Given the description of an element on the screen output the (x, y) to click on. 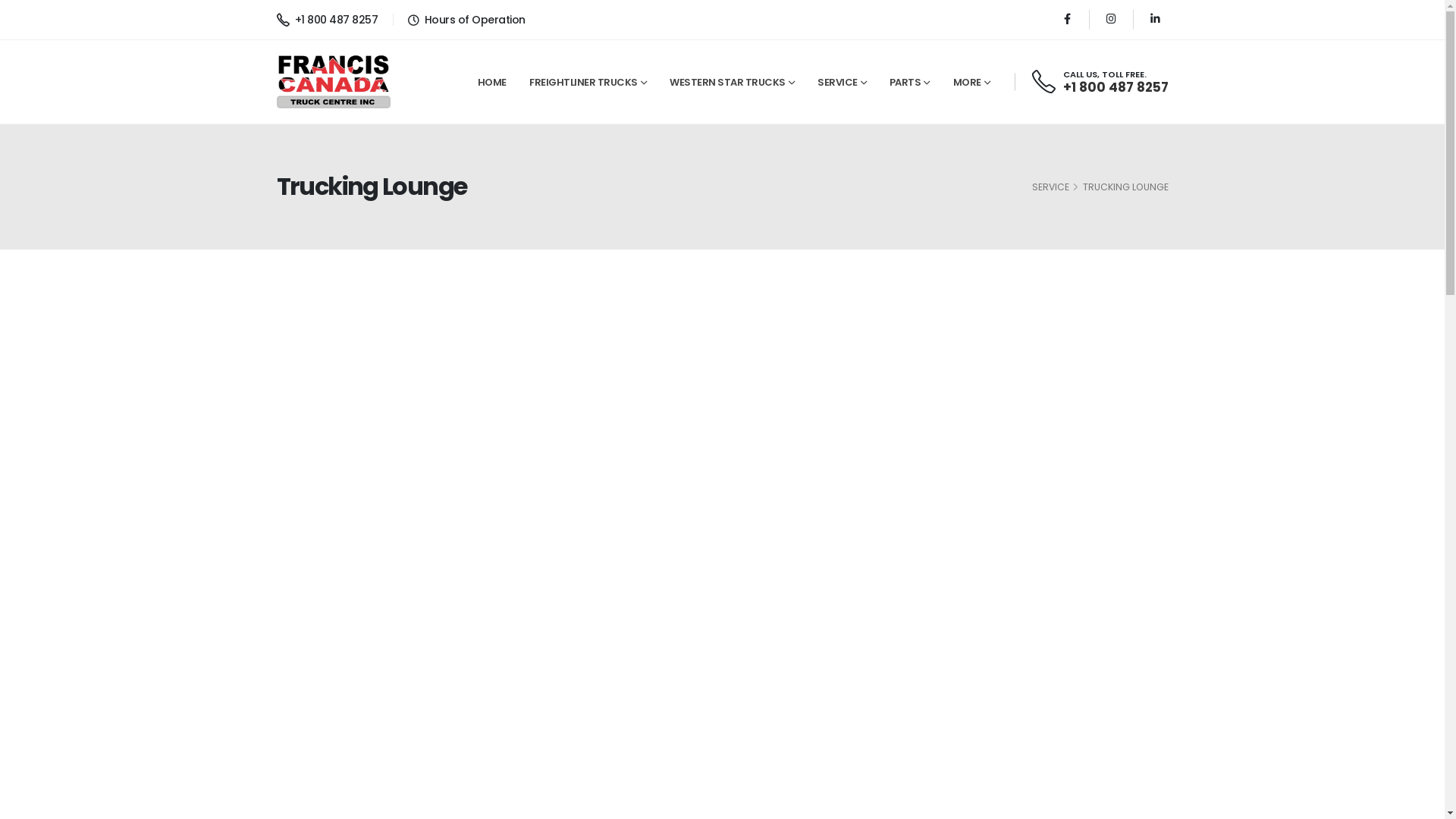
HOME Element type: text (491, 82)
Facebook Element type: hover (1066, 18)
SERVICE Element type: text (841, 82)
+1 800 487 8257 Element type: text (1115, 87)
+1 800 487 8257 Element type: text (326, 19)
WESTERN STAR TRUCKS Element type: text (731, 82)
MORE Element type: text (970, 82)
SERVICE Element type: text (1049, 186)
Instagram Element type: hover (1110, 18)
Linkedin Element type: hover (1154, 18)
PARTS Element type: text (909, 82)
Hours of Operation Element type: text (474, 19)
FREIGHTLINER TRUCKS Element type: text (587, 82)
